Given the description of an element on the screen output the (x, y) to click on. 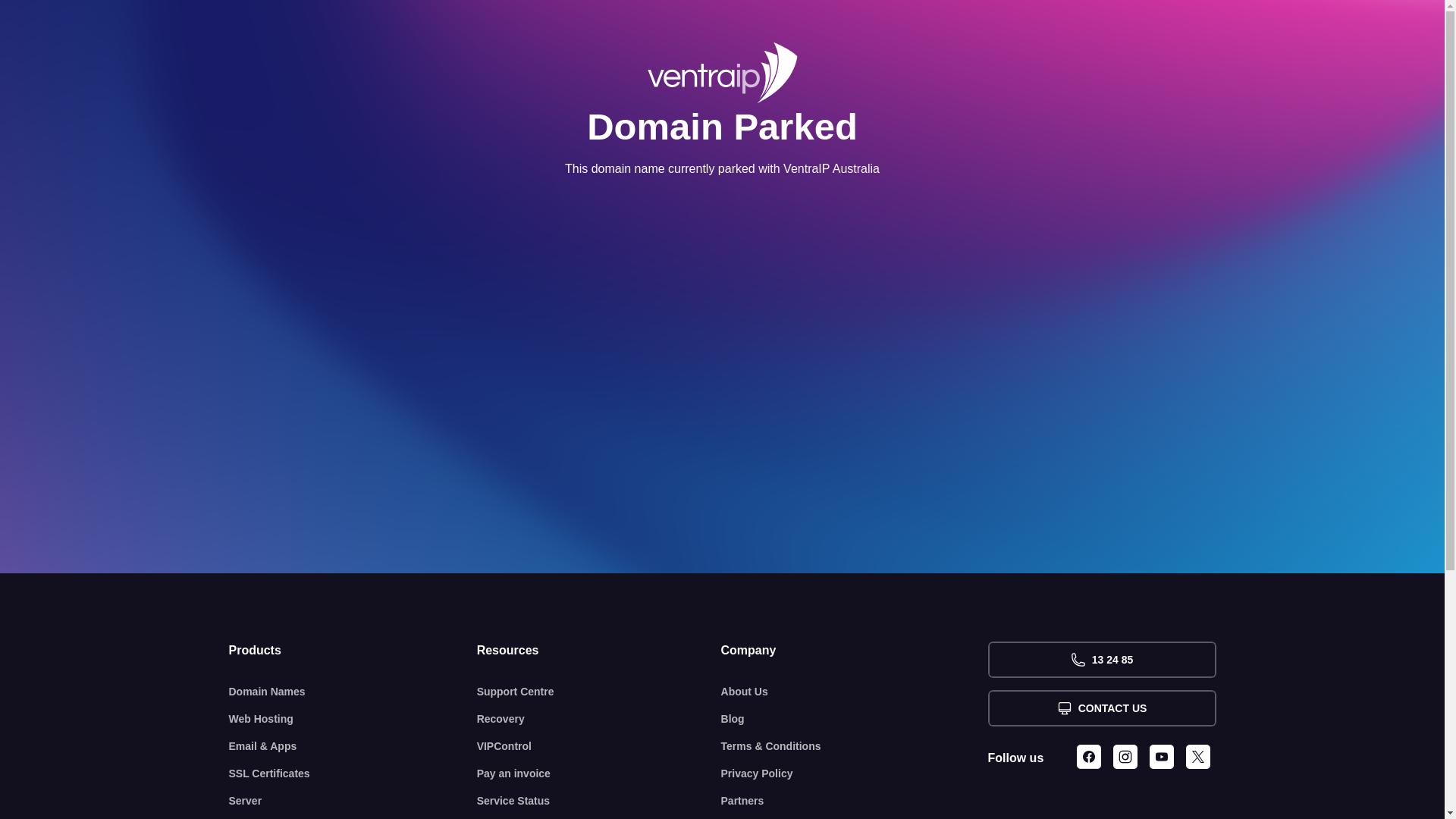
Server Element type: text (352, 800)
Terms & Conditions Element type: text (854, 745)
VIPControl Element type: text (598, 745)
About Us Element type: text (854, 691)
Blog Element type: text (854, 718)
Support Centre Element type: text (598, 691)
Privacy Policy Element type: text (854, 773)
CONTACT US Element type: text (1101, 708)
Recovery Element type: text (598, 718)
Web Hosting Element type: text (352, 718)
SSL Certificates Element type: text (352, 773)
Partners Element type: text (854, 800)
Service Status Element type: text (598, 800)
Email & Apps Element type: text (352, 745)
Domain Names Element type: text (352, 691)
Pay an invoice Element type: text (598, 773)
13 24 85 Element type: text (1101, 659)
